Given the description of an element on the screen output the (x, y) to click on. 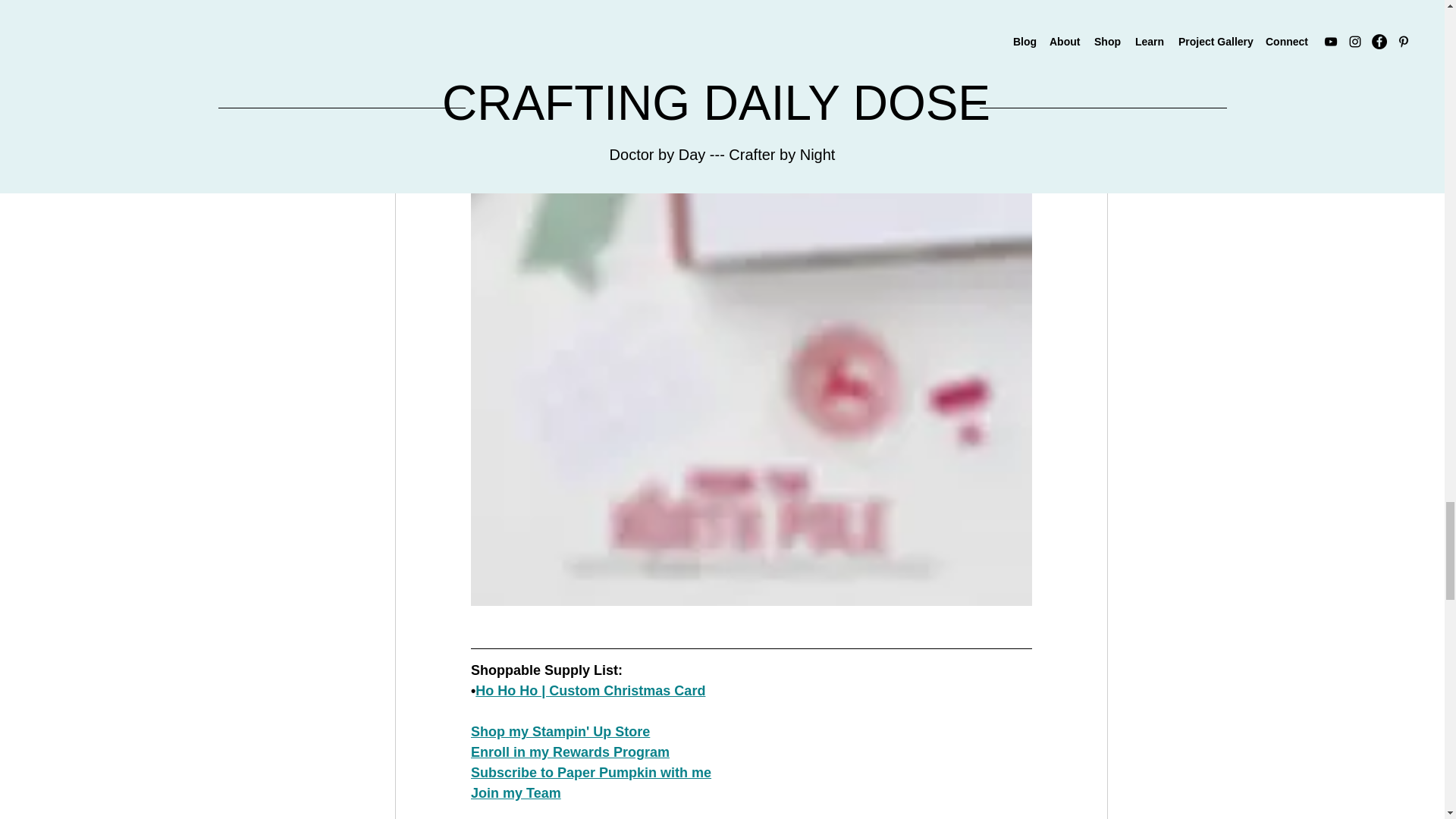
Shop my Stampin' Up Store (559, 731)
Enroll in my Rewards Program (569, 752)
Subscribe to Paper Pumpkin with me (590, 772)
Join my Team (515, 792)
